Given the description of an element on the screen output the (x, y) to click on. 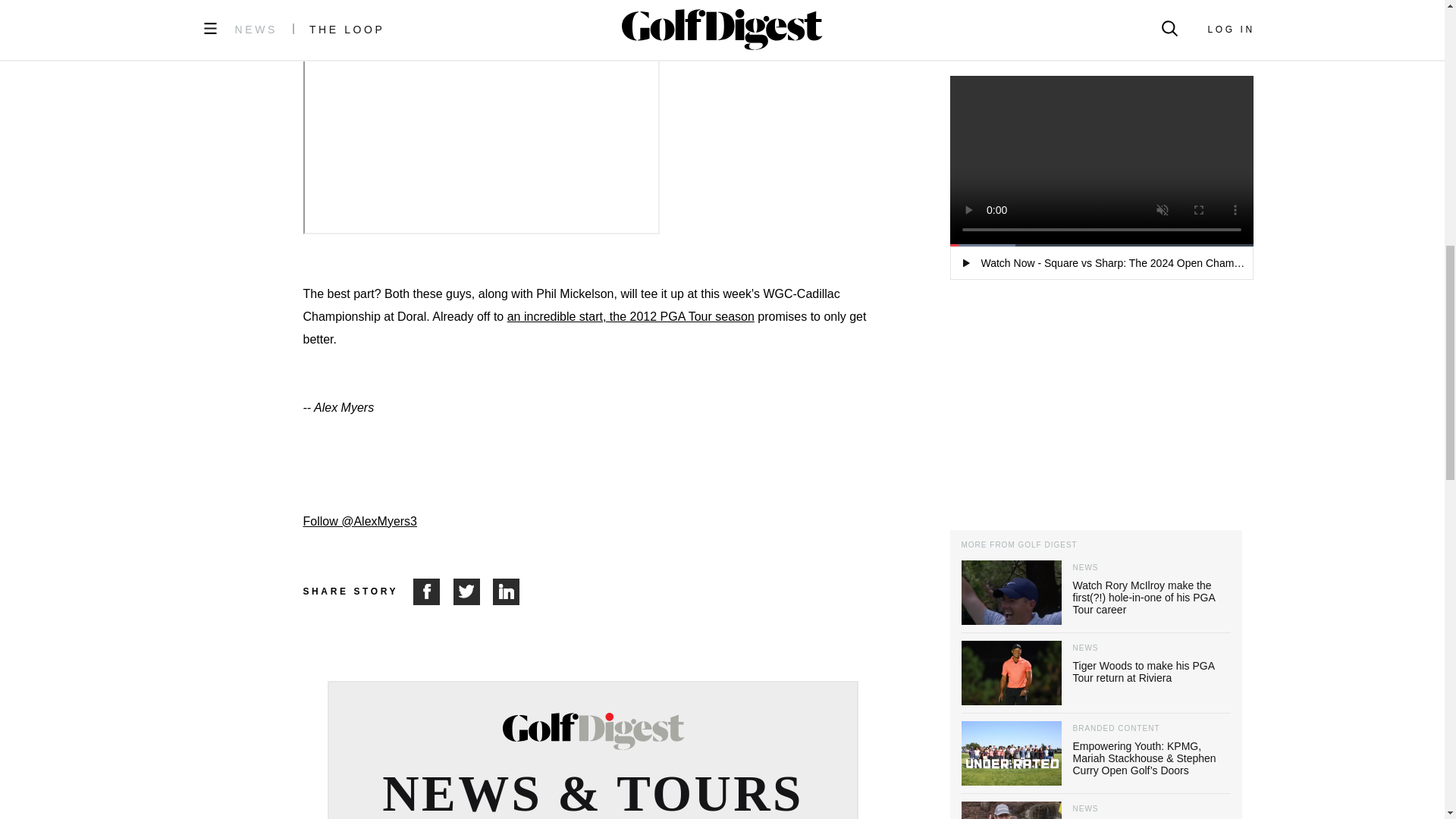
Share on Twitter (472, 591)
Share on LinkedIn (506, 591)
Share on Facebook (432, 591)
